Given the description of an element on the screen output the (x, y) to click on. 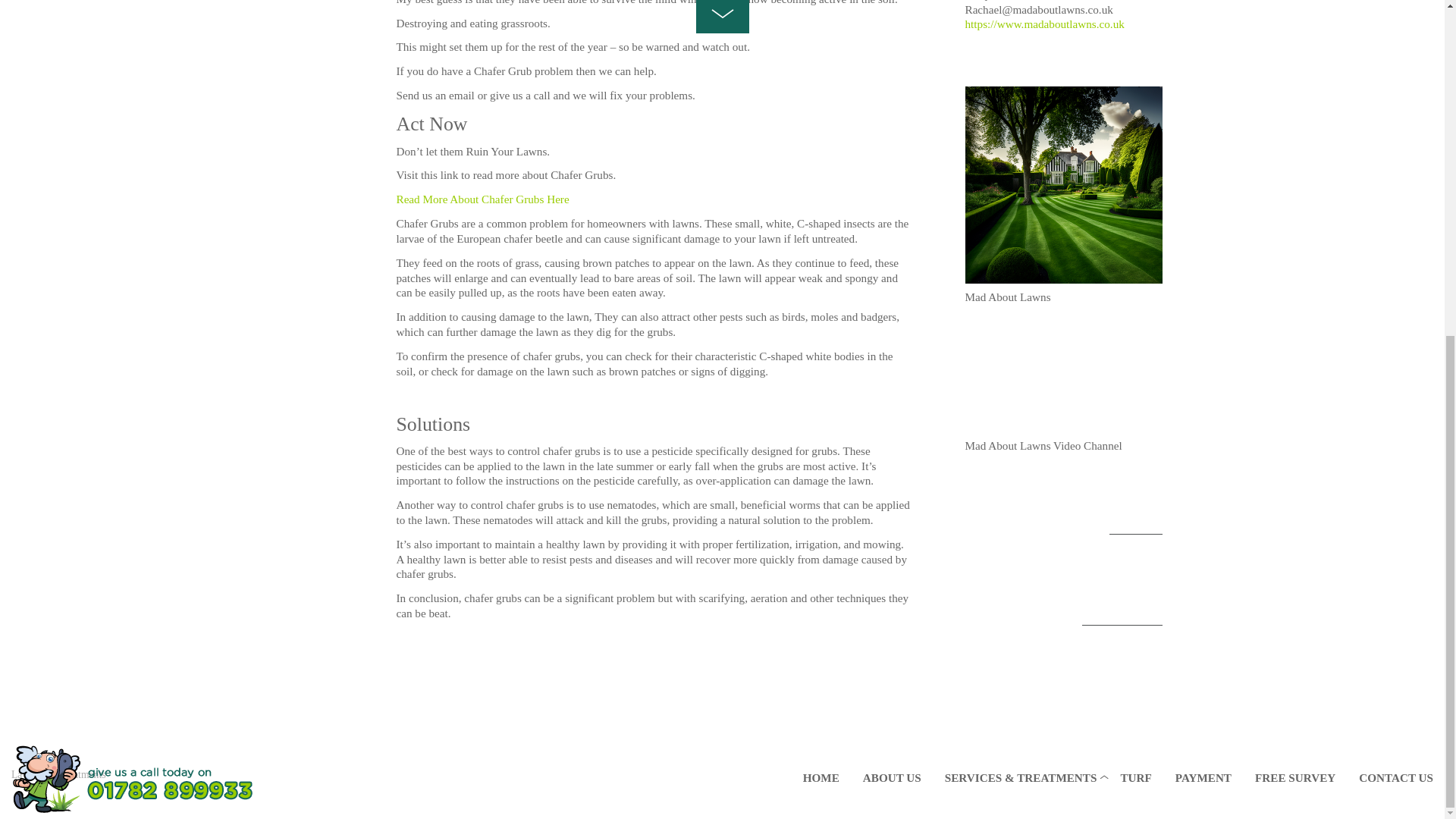
HOME (821, 211)
Mad About Lawns (135, 243)
FREE SURVEY (1294, 211)
PAYMENT (1203, 211)
ABOUT US (892, 211)
TURF (1134, 211)
